Given the description of an element on the screen output the (x, y) to click on. 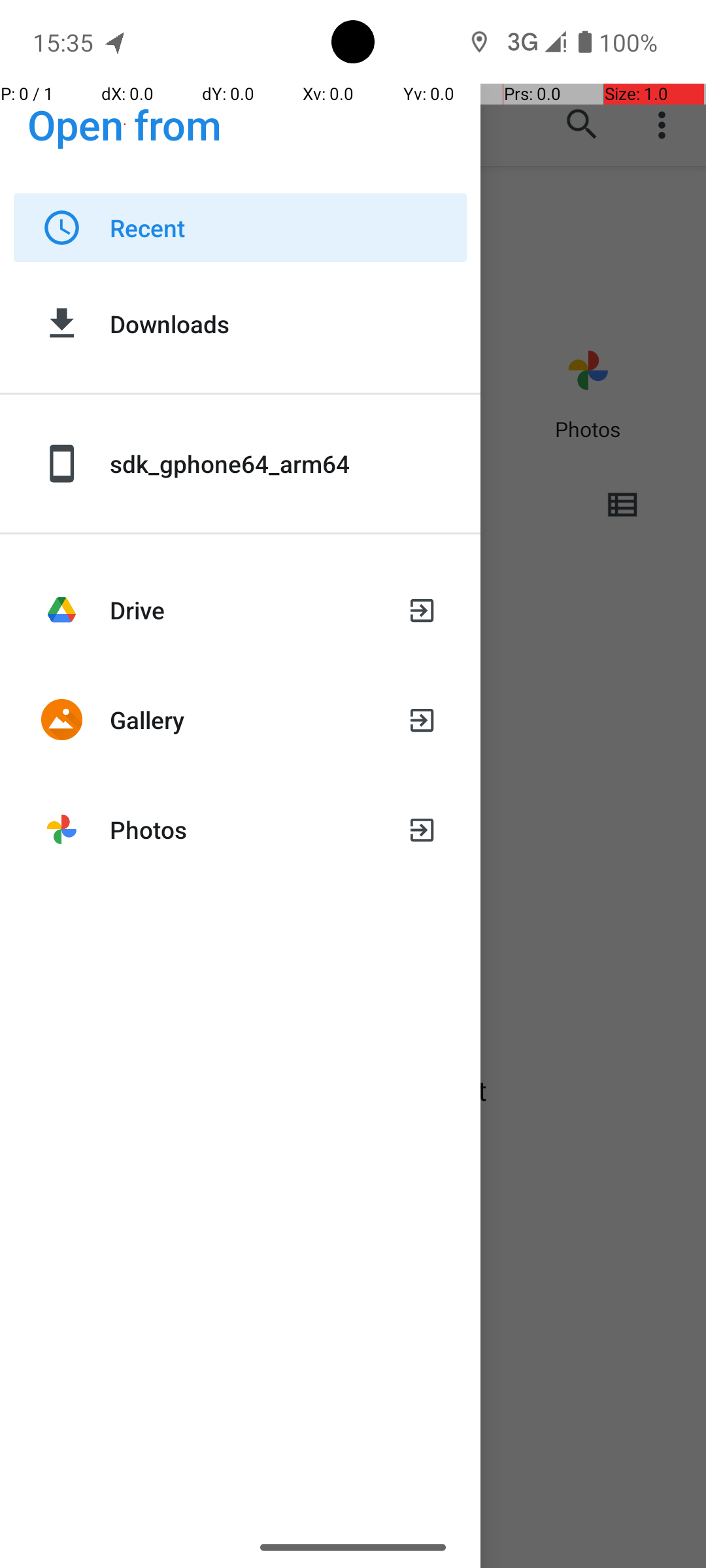
Open from Element type: android.widget.TextView (124, 124)
